Given the description of an element on the screen output the (x, y) to click on. 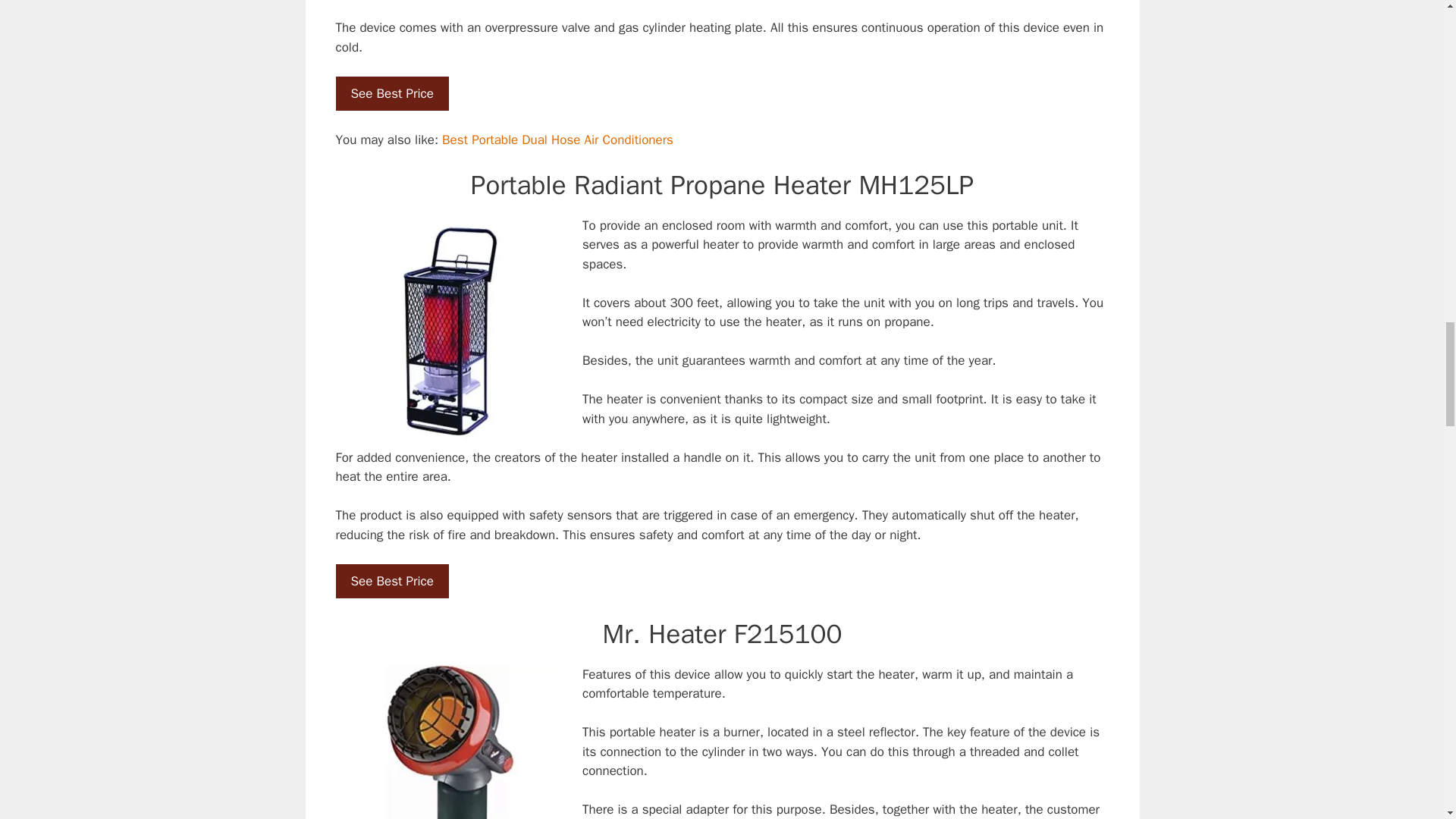
Best Portable Dual Hose Air Conditioners (557, 139)
See Best Price (391, 93)
See Best Price (391, 581)
